Given the description of an element on the screen output the (x, y) to click on. 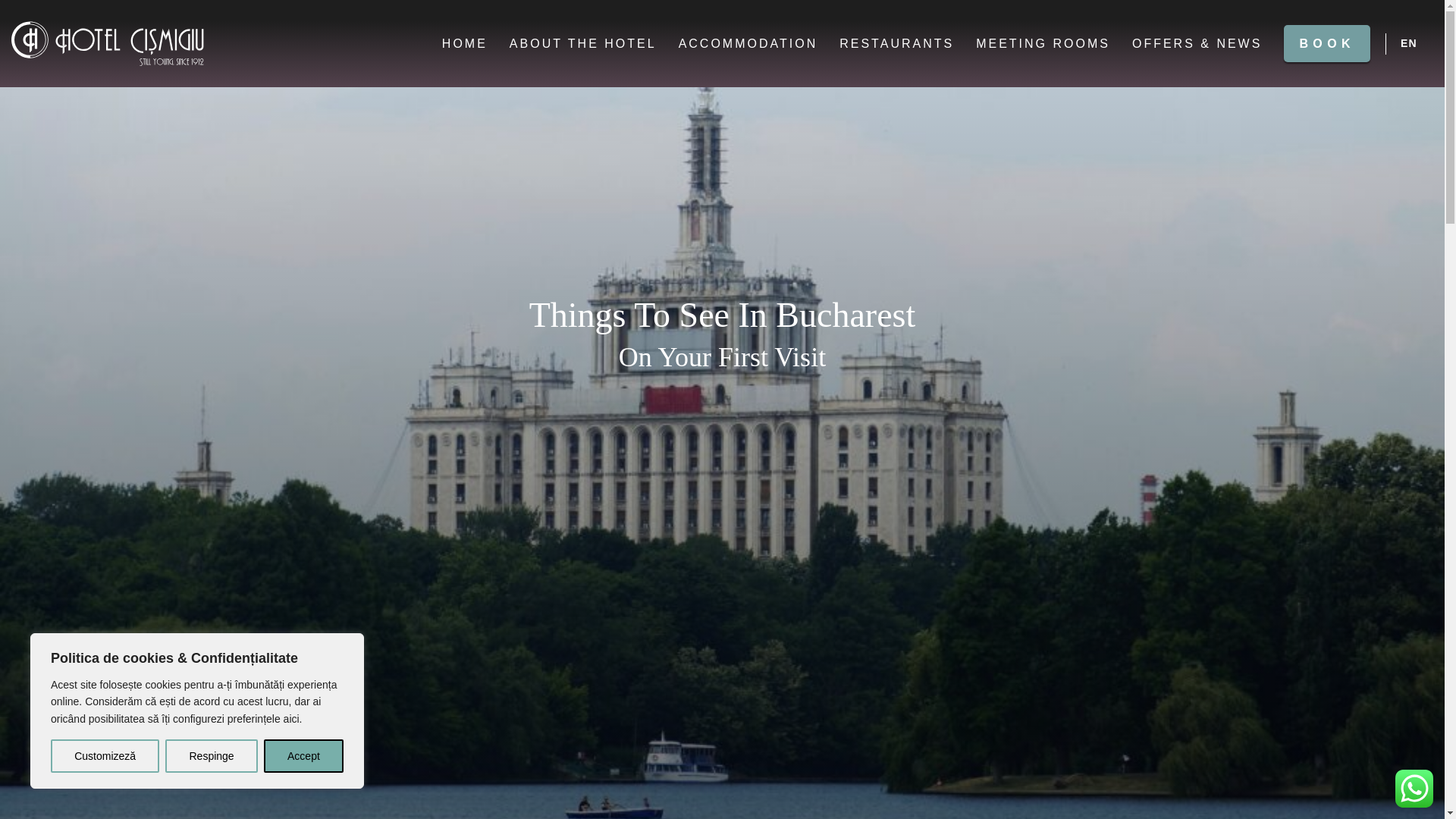
Accept (303, 756)
Respinge (211, 756)
MEETING ROOMS (1042, 44)
RESTAURANTS (896, 44)
HOME (464, 44)
BOOK (1327, 43)
ABOUT THE HOTEL (582, 44)
ACCOMMODATION (748, 44)
